Given the description of an element on the screen output the (x, y) to click on. 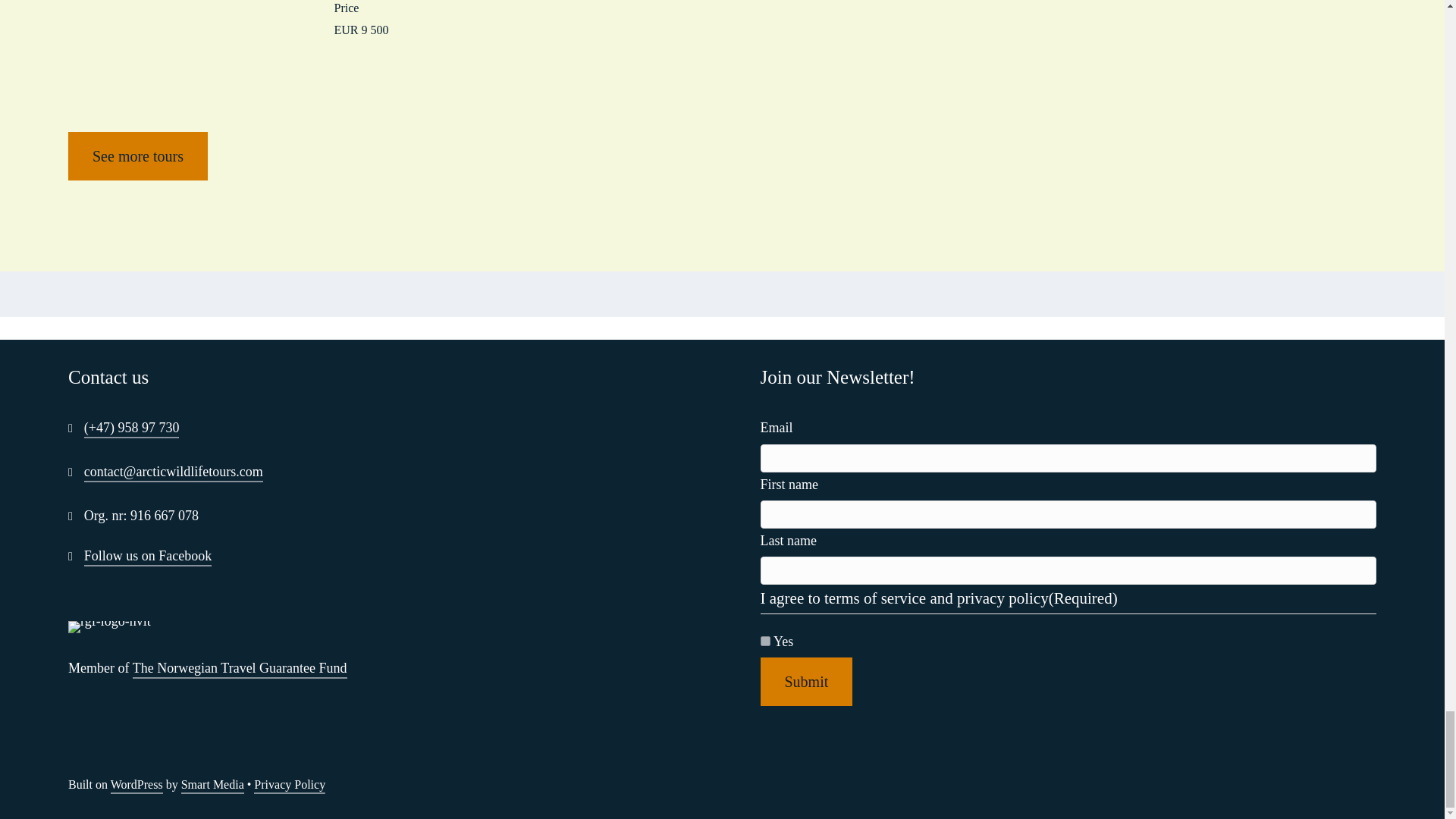
Smart Media (212, 785)
Yes (765, 641)
rgf-logo-hvit (109, 626)
Submit (805, 681)
